Given the description of an element on the screen output the (x, y) to click on. 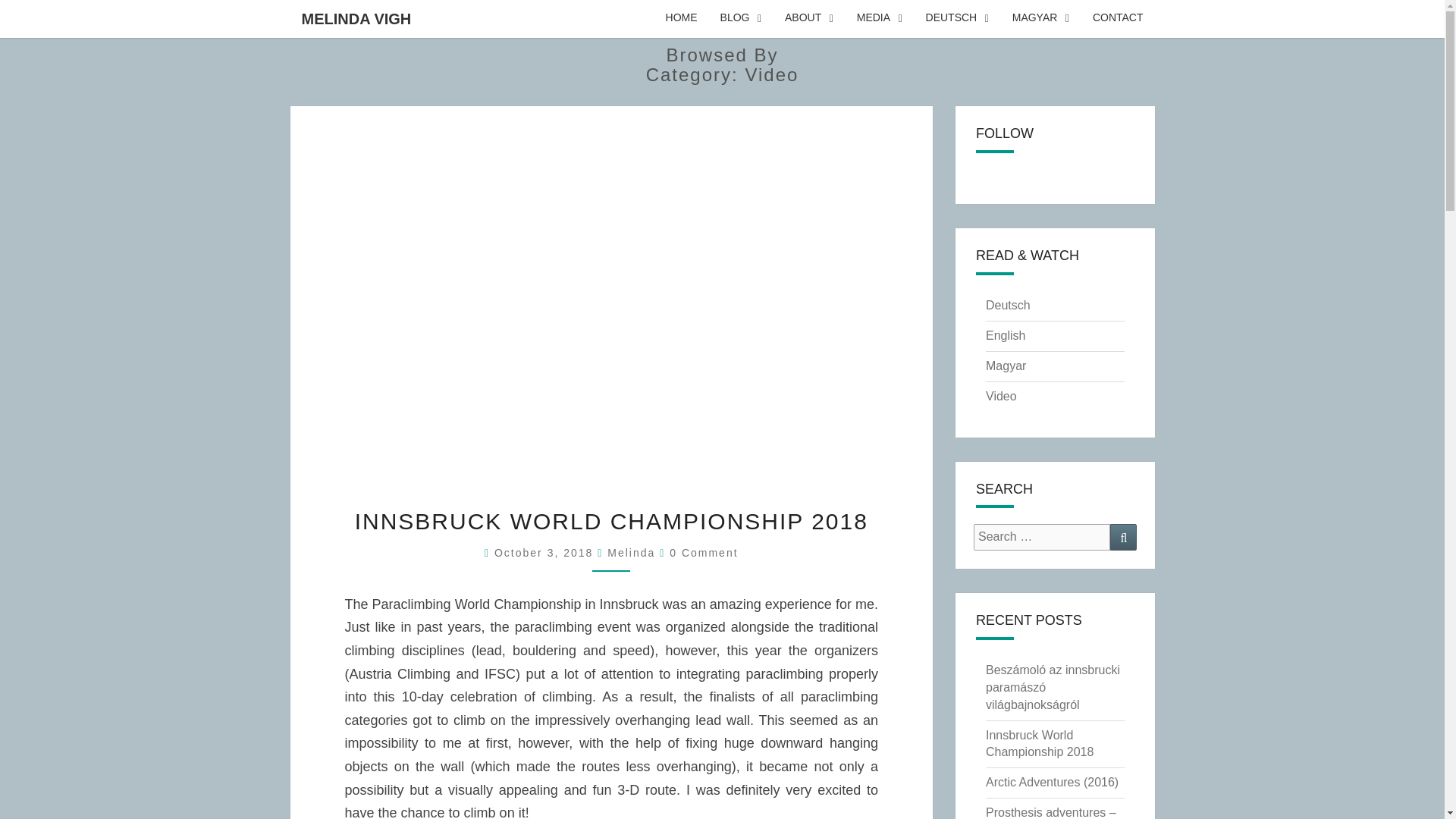
Melinda (631, 552)
ABOUT (809, 18)
0 Comment (703, 552)
CONTACT (1117, 18)
HOME (681, 18)
INNSBRUCK WORLD CHAMPIONSHIP 2018 (611, 520)
MELINDA VIGH (355, 18)
BLOG (741, 18)
October 3, 2018 (545, 552)
MEDIA (879, 18)
